Given the description of an element on the screen output the (x, y) to click on. 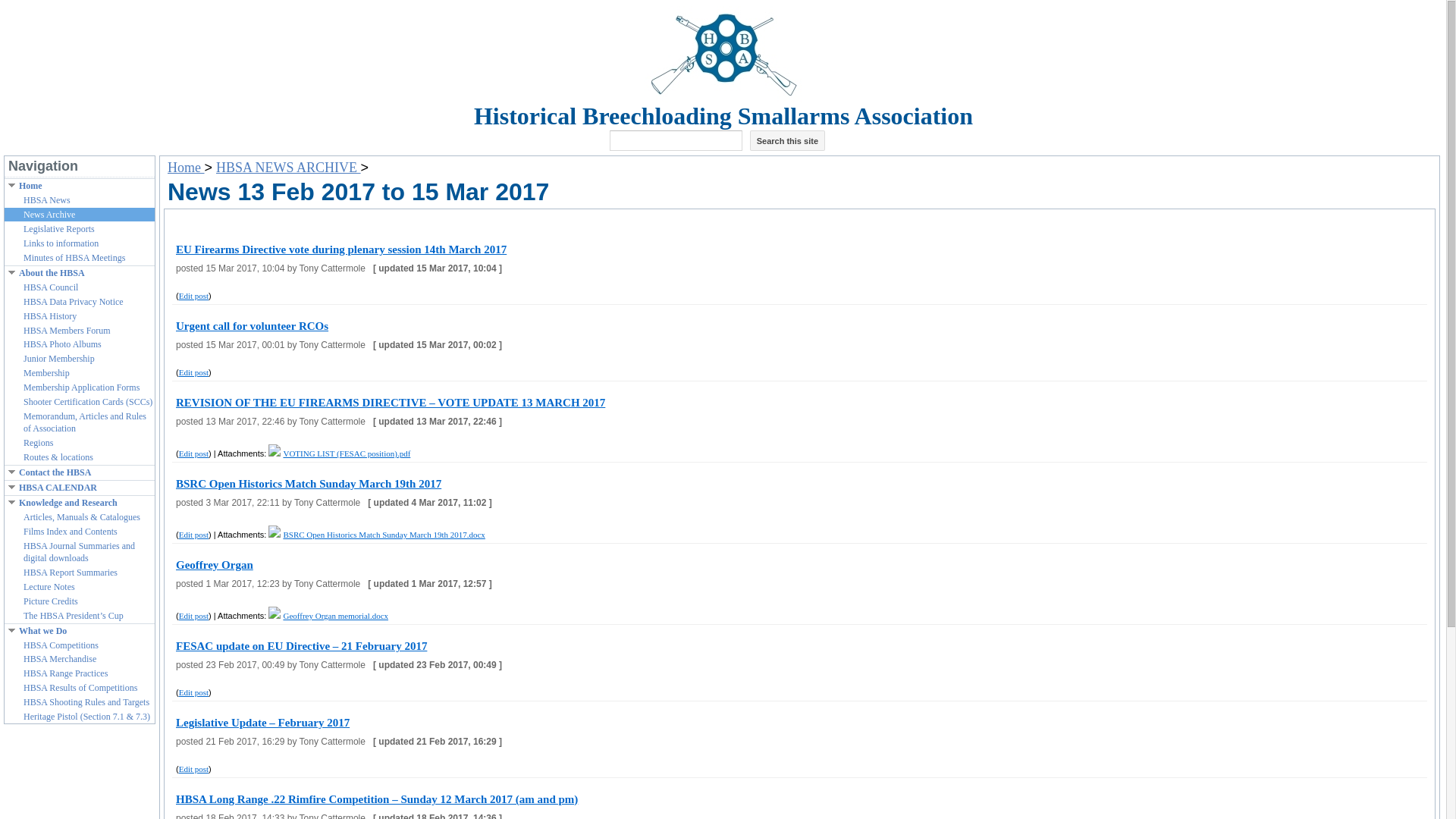
Memorandum, Articles and Rules of Association (88, 422)
HBSA News (88, 200)
Historical Breechloading Smallarms Association (723, 115)
News Archive (88, 215)
HBSA Competitions (88, 645)
HBSA History (88, 316)
HBSA Data Privacy Notice (88, 302)
HBSA Shooting Rules and Targets (88, 702)
HBSA Photo Albums (88, 345)
Home (86, 186)
Films Index and Contents (88, 532)
HBSA Results of Competitions (88, 688)
Legislative Reports (88, 229)
HBSA Range Practices (88, 674)
Contact the HBSA (86, 472)
